Given the description of an element on the screen output the (x, y) to click on. 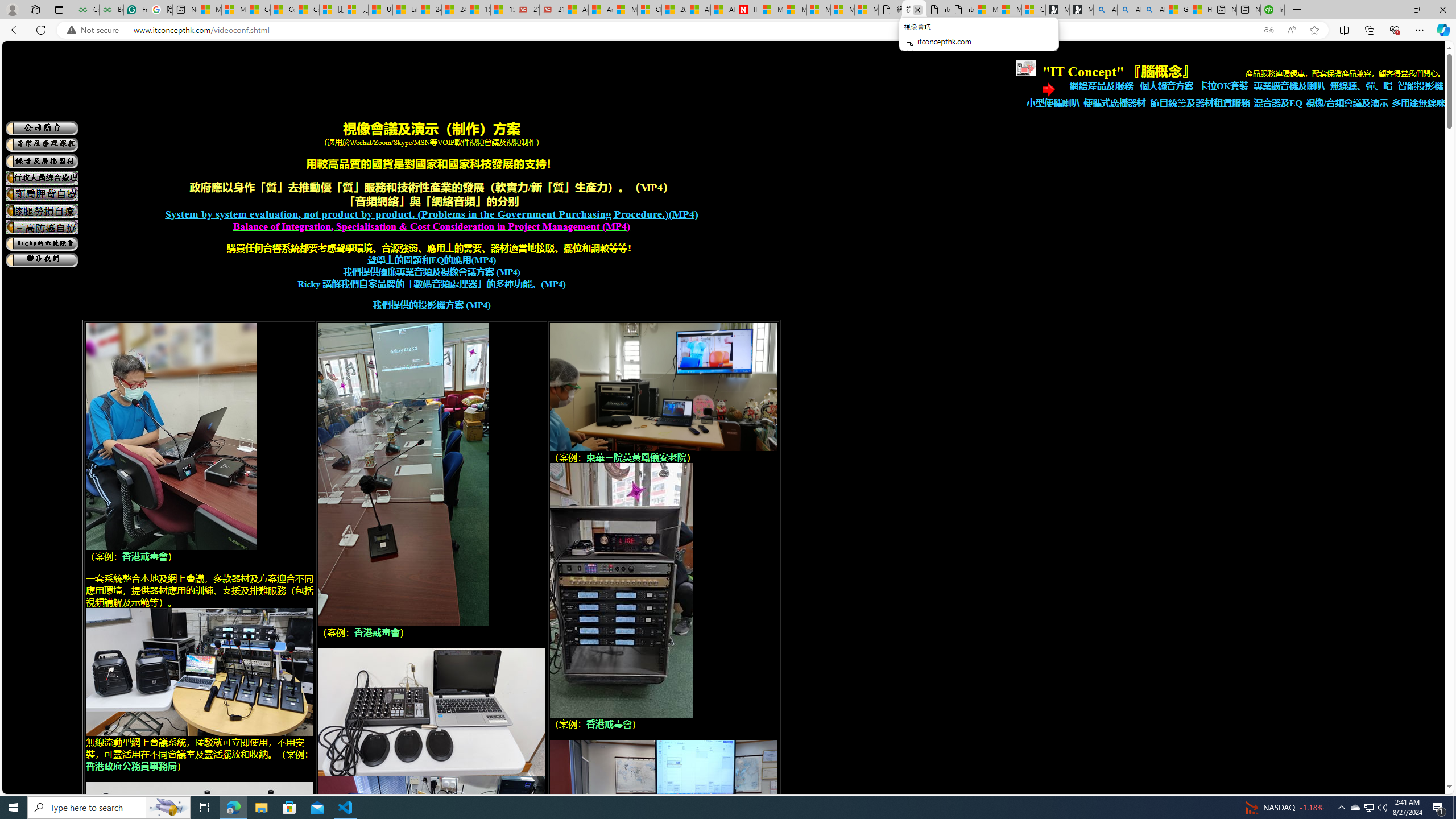
20 Ways to Boost Your Protein Intake at Every Meal (673, 9)
How to Use a TV as a Computer Monitor (1200, 9)
15 Ways Modern Life Contradicts the Teachings of Jesus (502, 9)
online meeting, zoom meeting, (199, 671)
Illness news & latest pictures from Newsweek.com (747, 9)
